Given the description of an element on the screen output the (x, y) to click on. 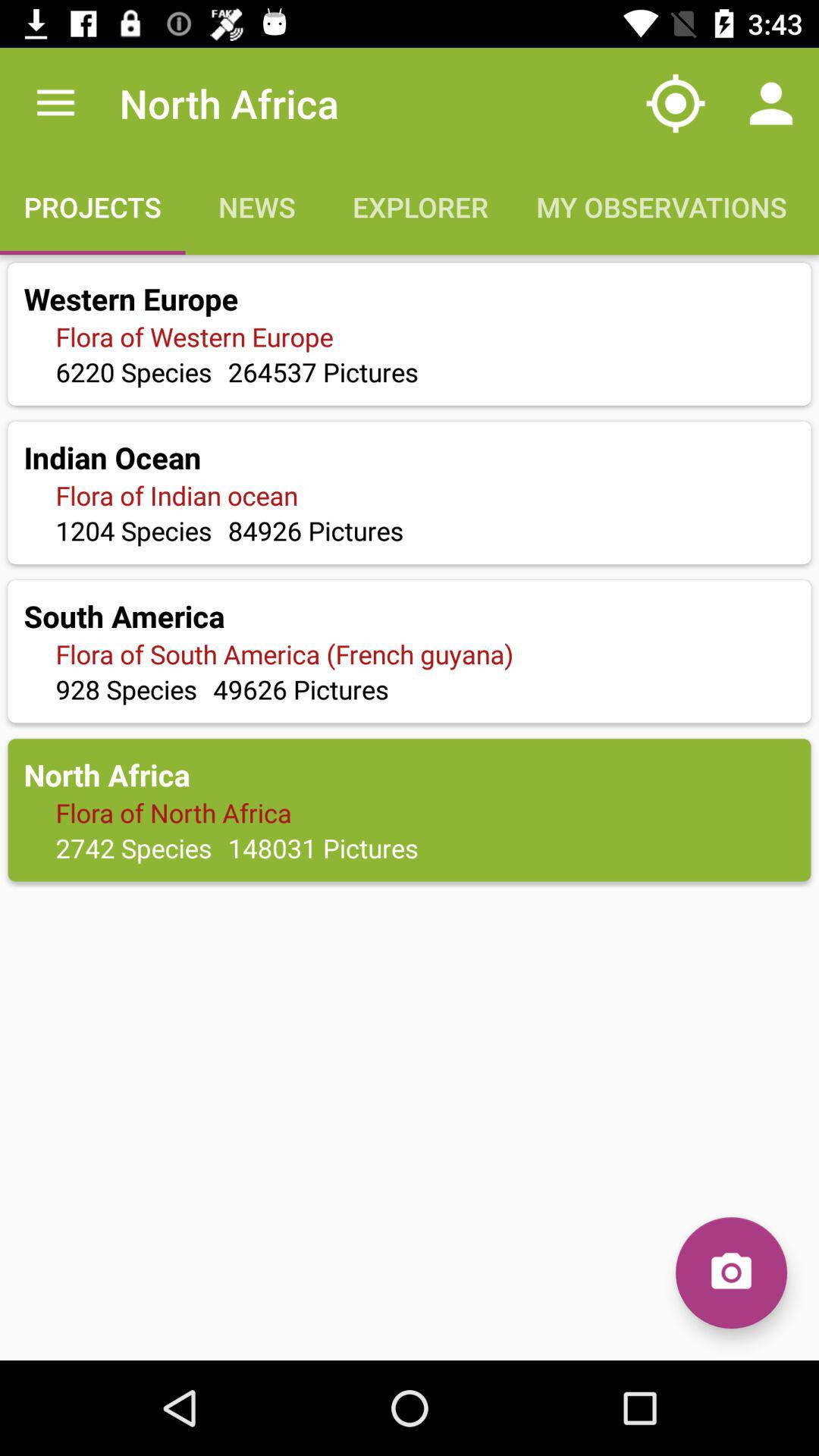
press item above the projects icon (55, 103)
